Given the description of an element on the screen output the (x, y) to click on. 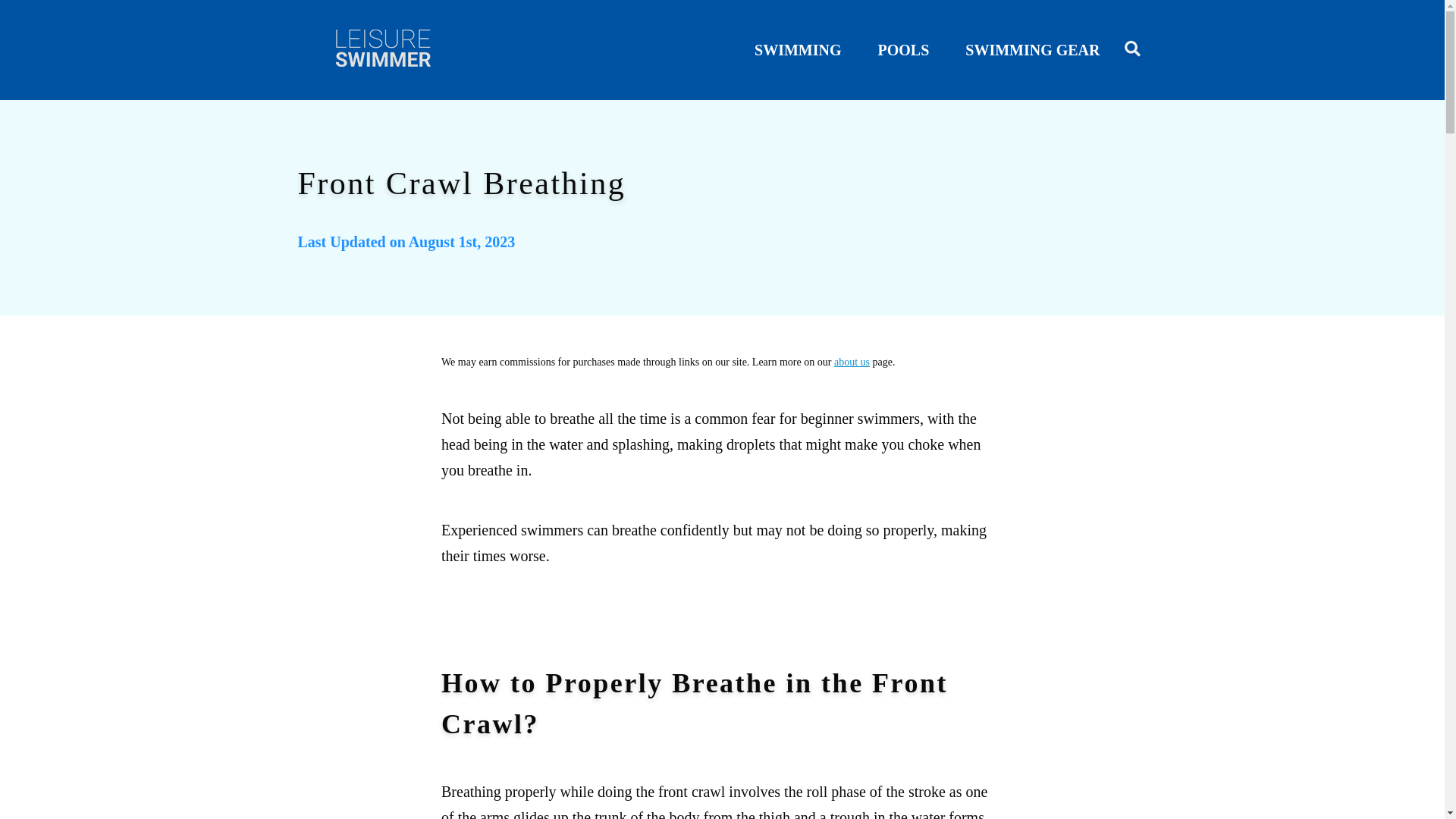
SWIMMING GEAR (1032, 49)
about us (851, 361)
